Given the description of an element on the screen output the (x, y) to click on. 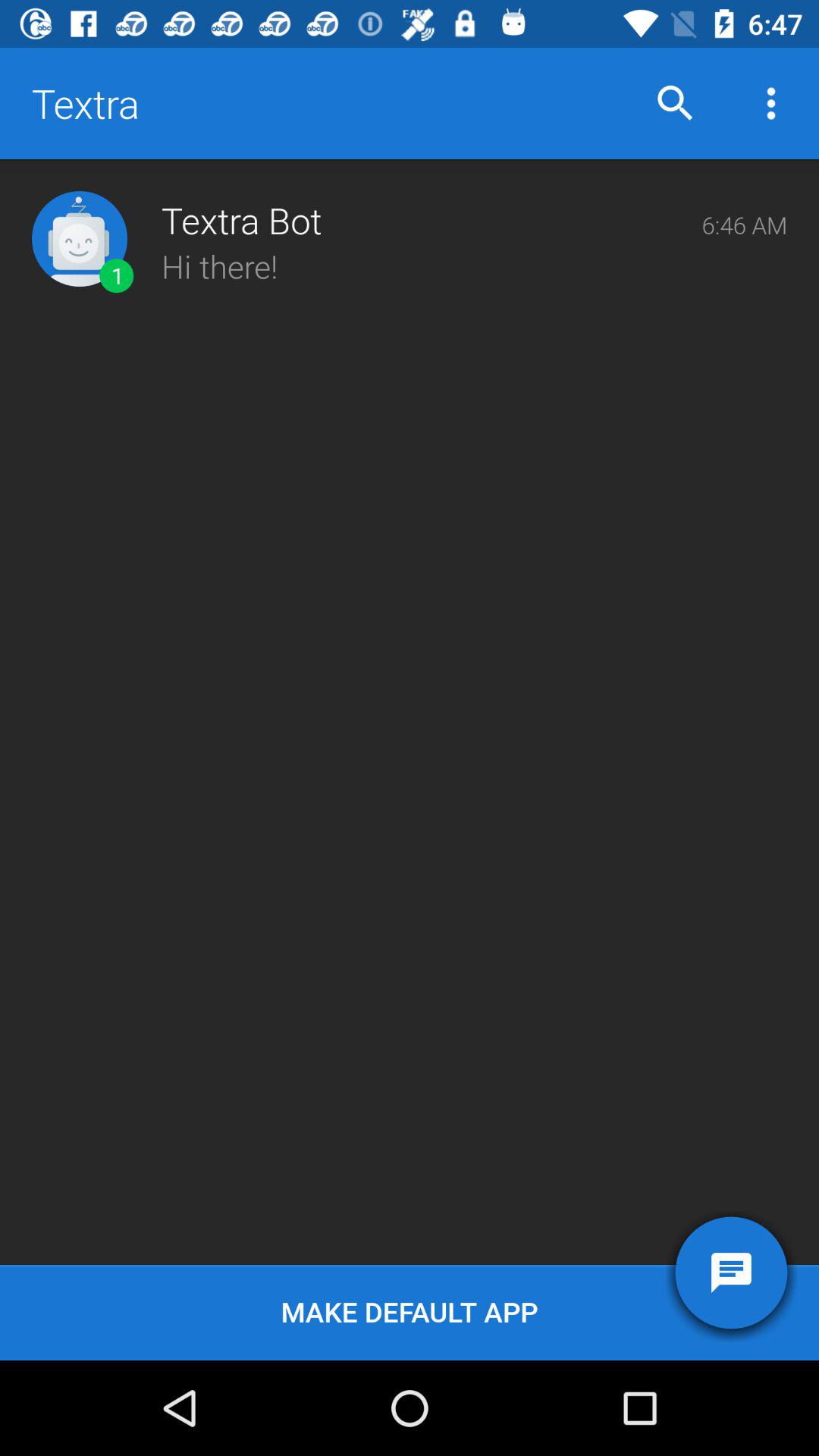
click the item next to textra item (675, 103)
